Given the description of an element on the screen output the (x, y) to click on. 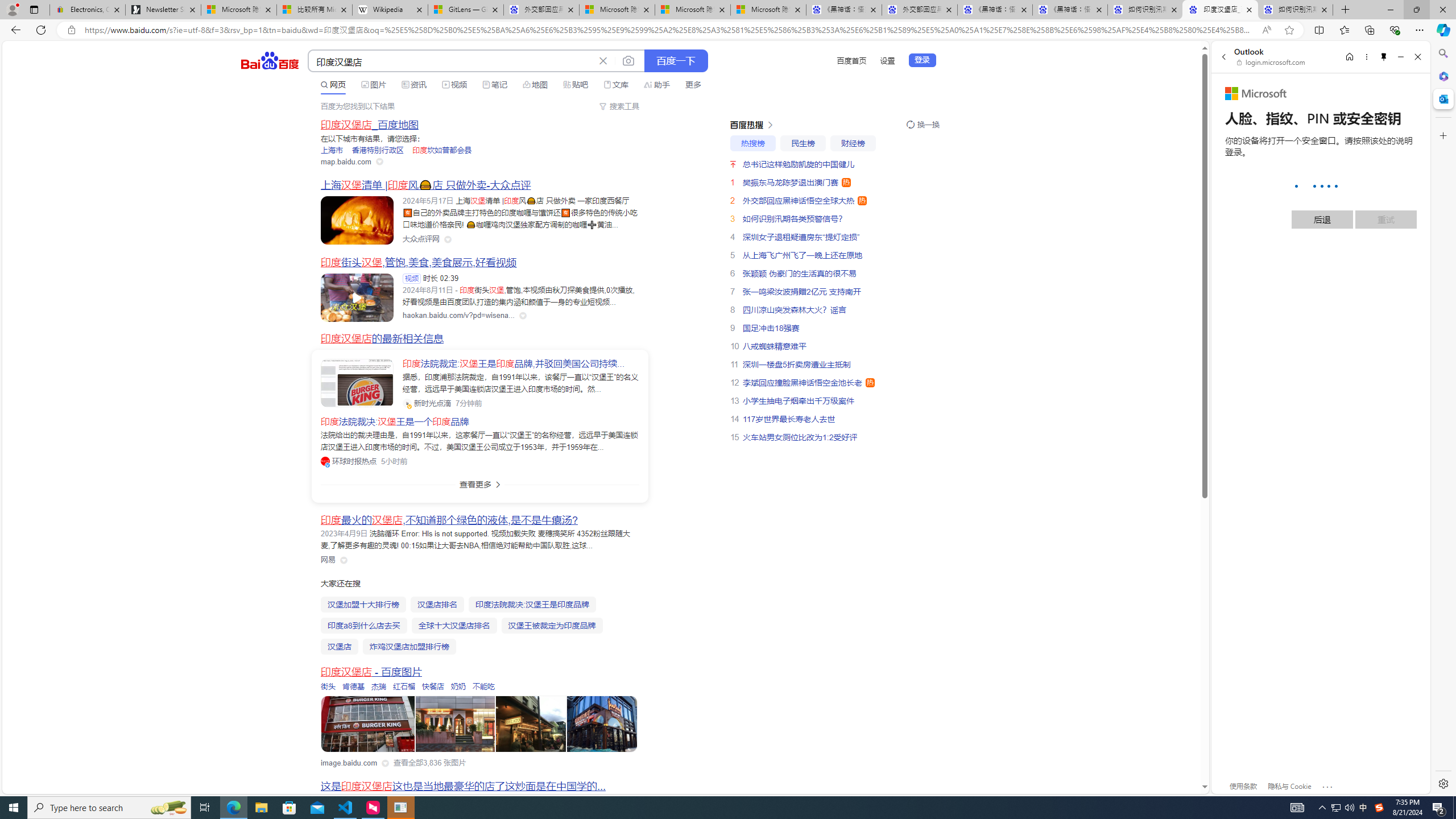
AutomationID: kw (451, 61)
Class: siteLink_9TPP3 (327, 560)
